Given the description of an element on the screen output the (x, y) to click on. 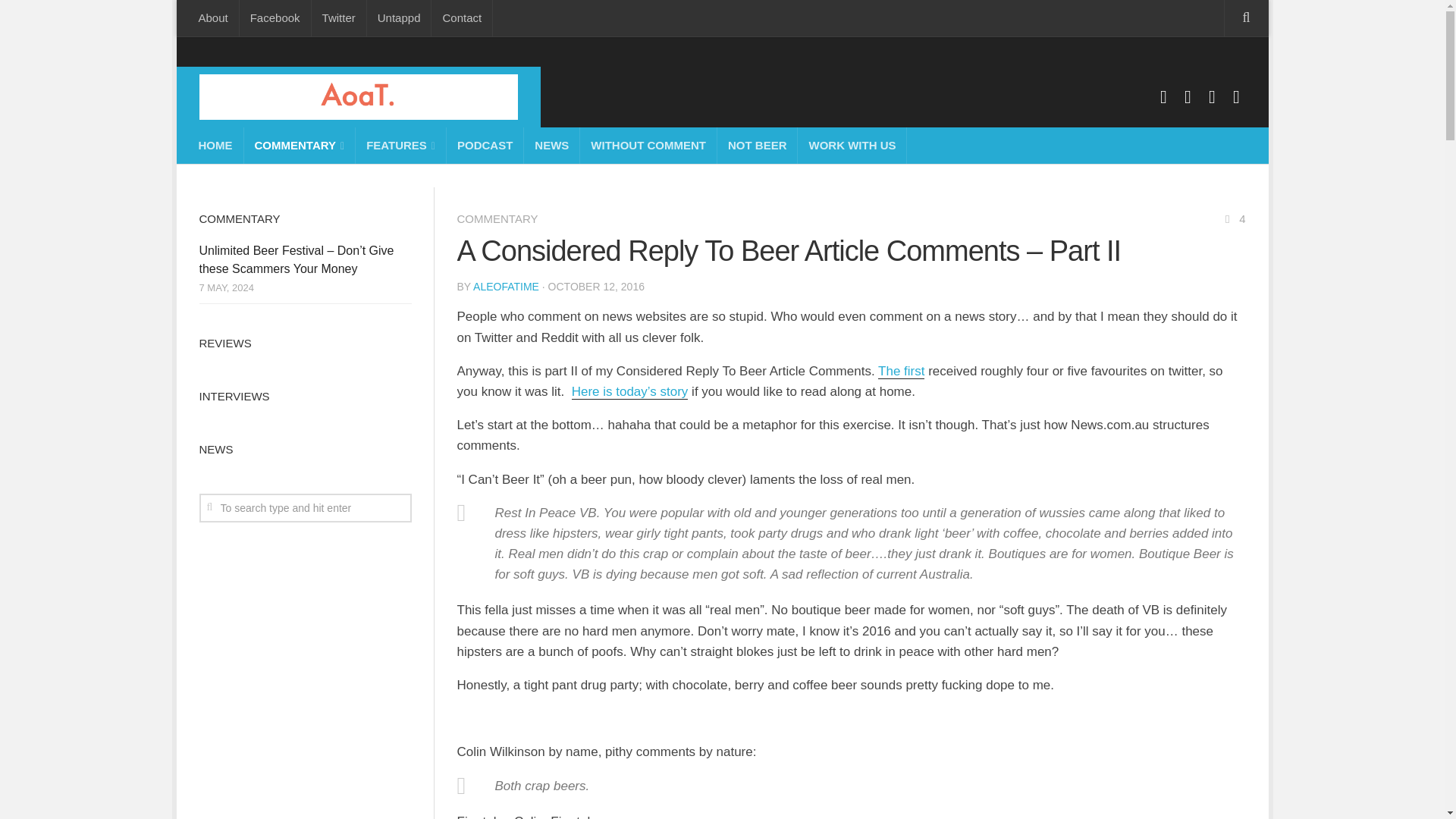
4 (1232, 218)
NEWS (551, 145)
NOT BEER (757, 145)
Facebook (1163, 96)
ALEOFATIME (505, 286)
FEATURES (400, 145)
COMMENTARY (497, 218)
COMMENTARY (299, 145)
WORK WITH US (851, 145)
Instagram (1186, 96)
Contact (461, 18)
Twitter (1211, 96)
Posts by AleOfATime (505, 286)
HOME (215, 145)
Podcast (1235, 96)
